Given the description of an element on the screen output the (x, y) to click on. 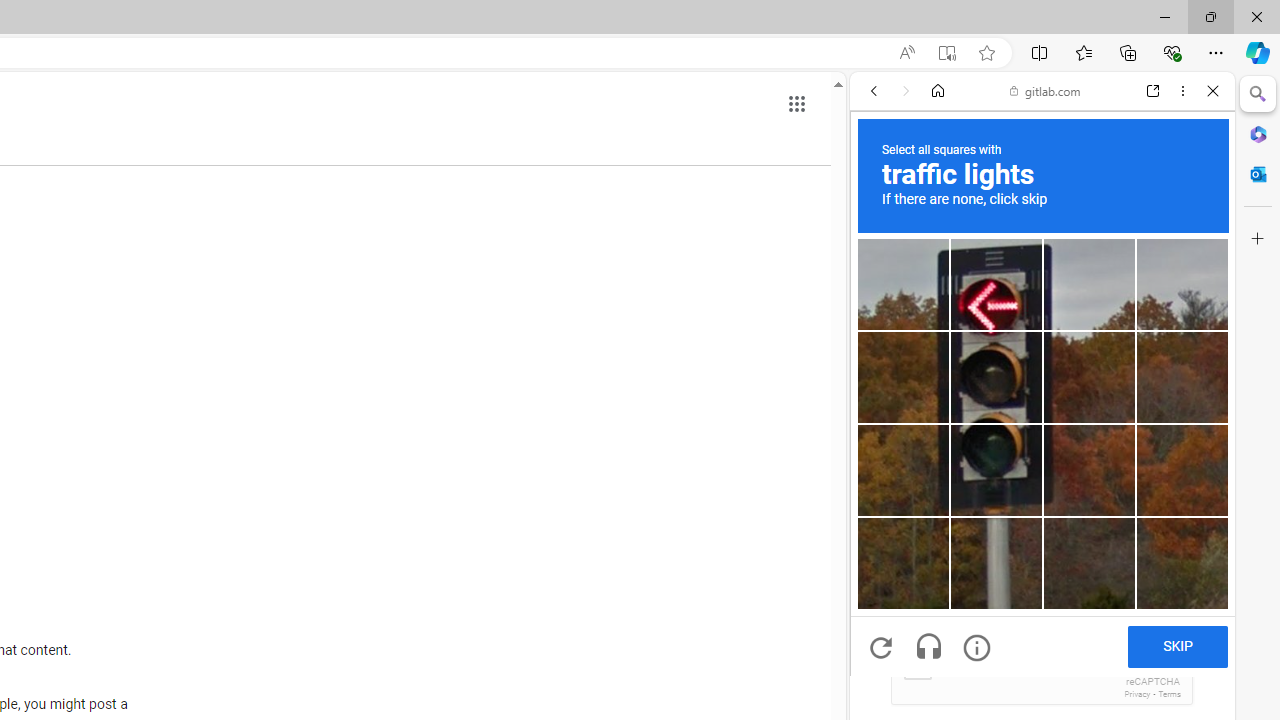
I'm not a robot (916, 664)
gitlab.com (1045, 90)
Register Now (1042, 445)
Register Now (1042, 445)
